Given the description of an element on the screen output the (x, y) to click on. 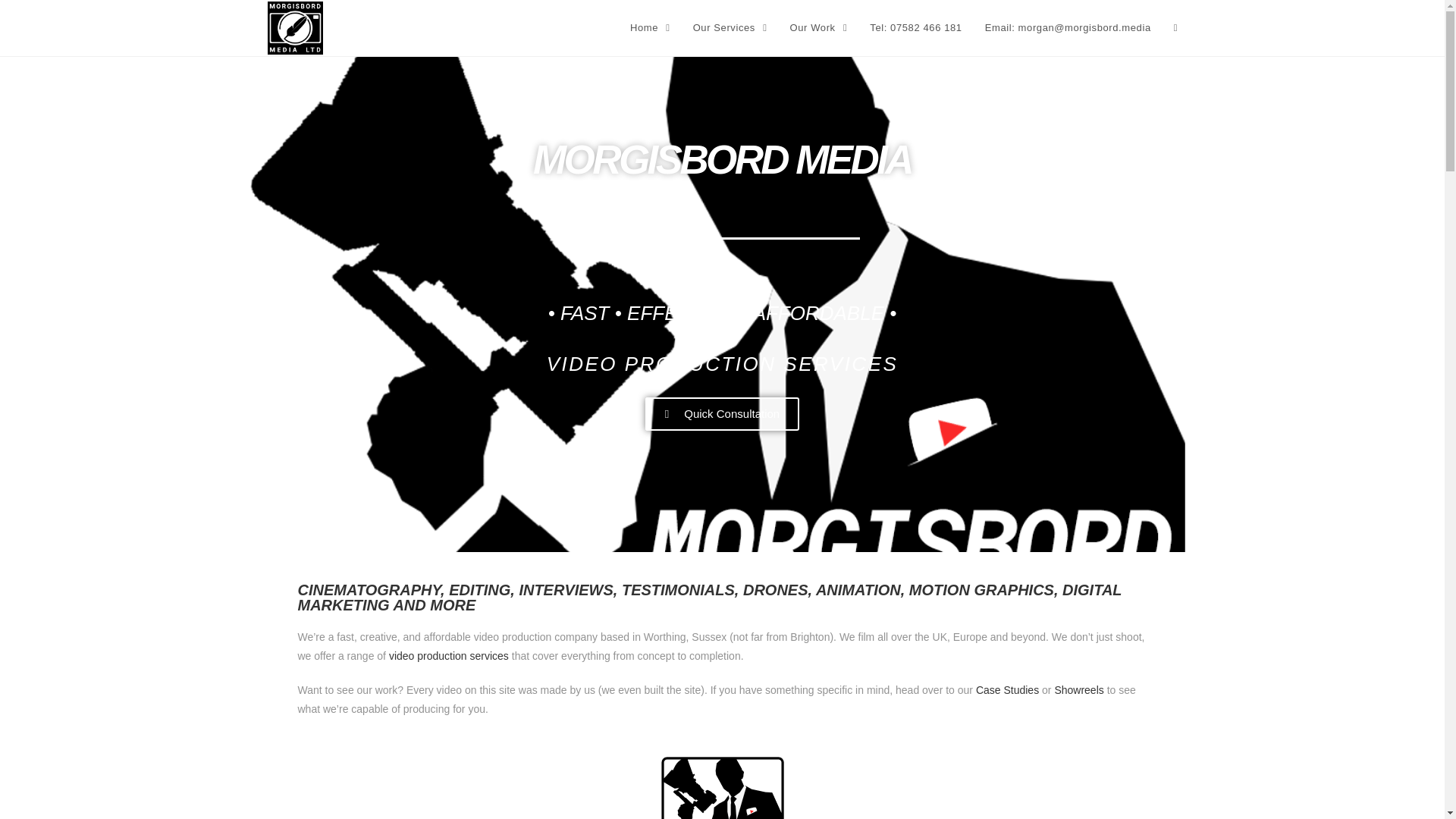
Our Work (818, 28)
Home (649, 28)
Our Services (729, 28)
Case Studies (1007, 689)
Quick Consultation (722, 413)
Showreels (1078, 689)
video production services (448, 655)
Tel: 07582 466 181 (915, 28)
